Given the description of an element on the screen output the (x, y) to click on. 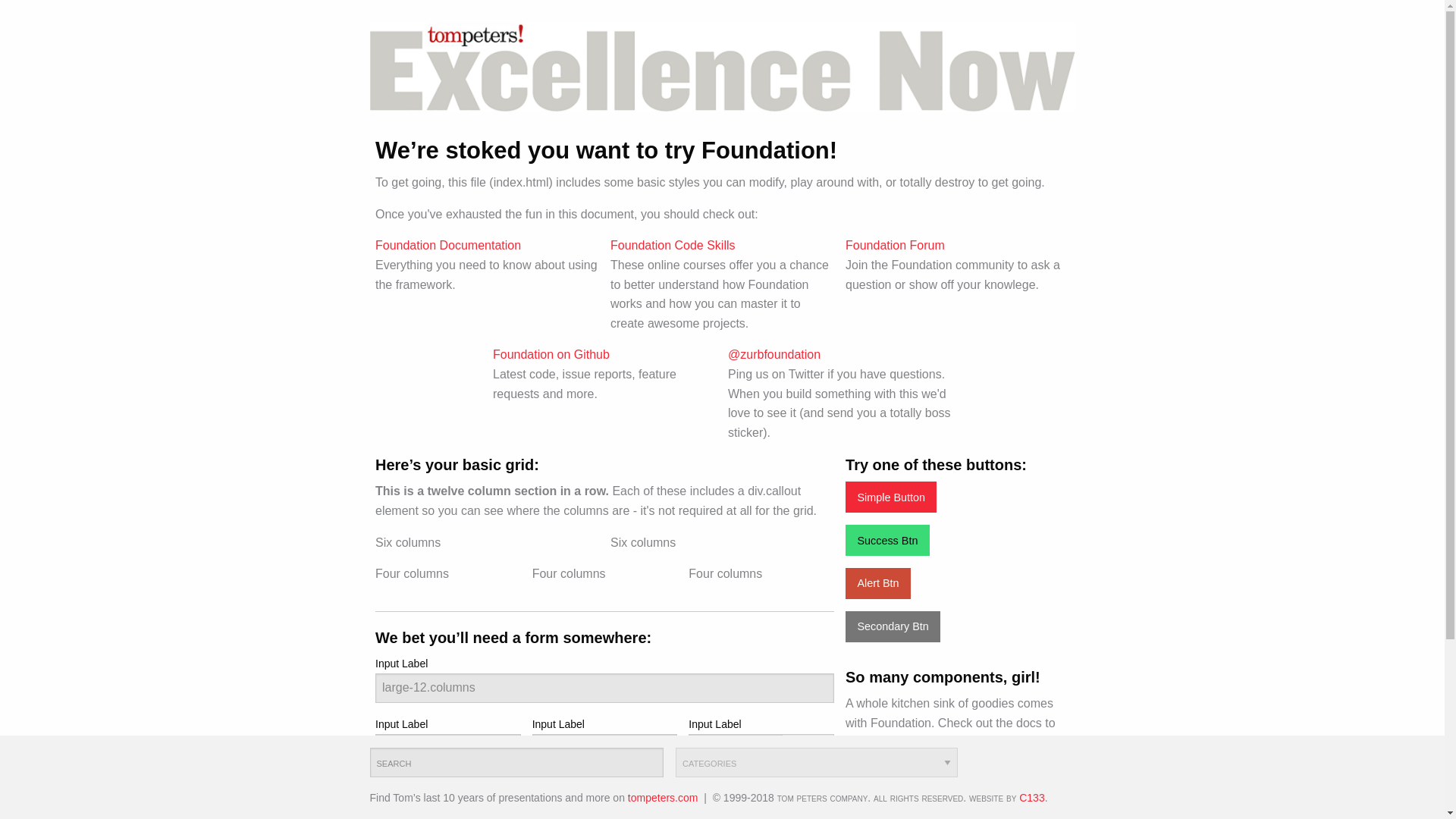
Alert Btn (878, 583)
Foundation Code Skills (672, 245)
C133 (1031, 797)
WordPress Website Design (1031, 797)
Simple Button (890, 496)
Go to Foundation Docs (901, 795)
Search (516, 762)
Success Btn (887, 540)
Foundation on Github (551, 354)
Foundation Forum (894, 245)
Foundation Documentation (448, 245)
tompeters.com (662, 797)
Secondary Btn (892, 626)
Search (516, 762)
